Given the description of an element on the screen output the (x, y) to click on. 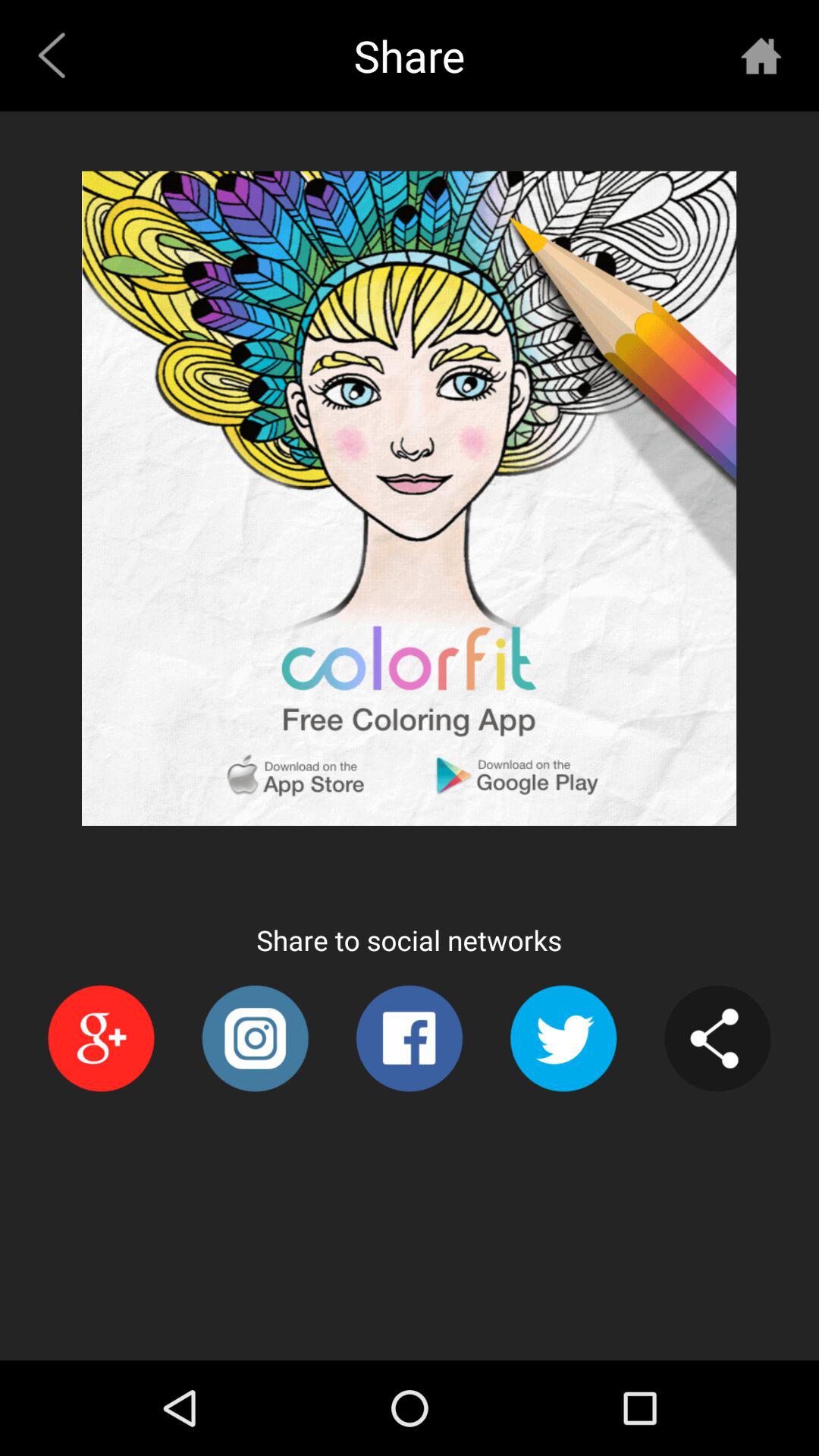
press item to the right of the share item (761, 55)
